Given the description of an element on the screen output the (x, y) to click on. 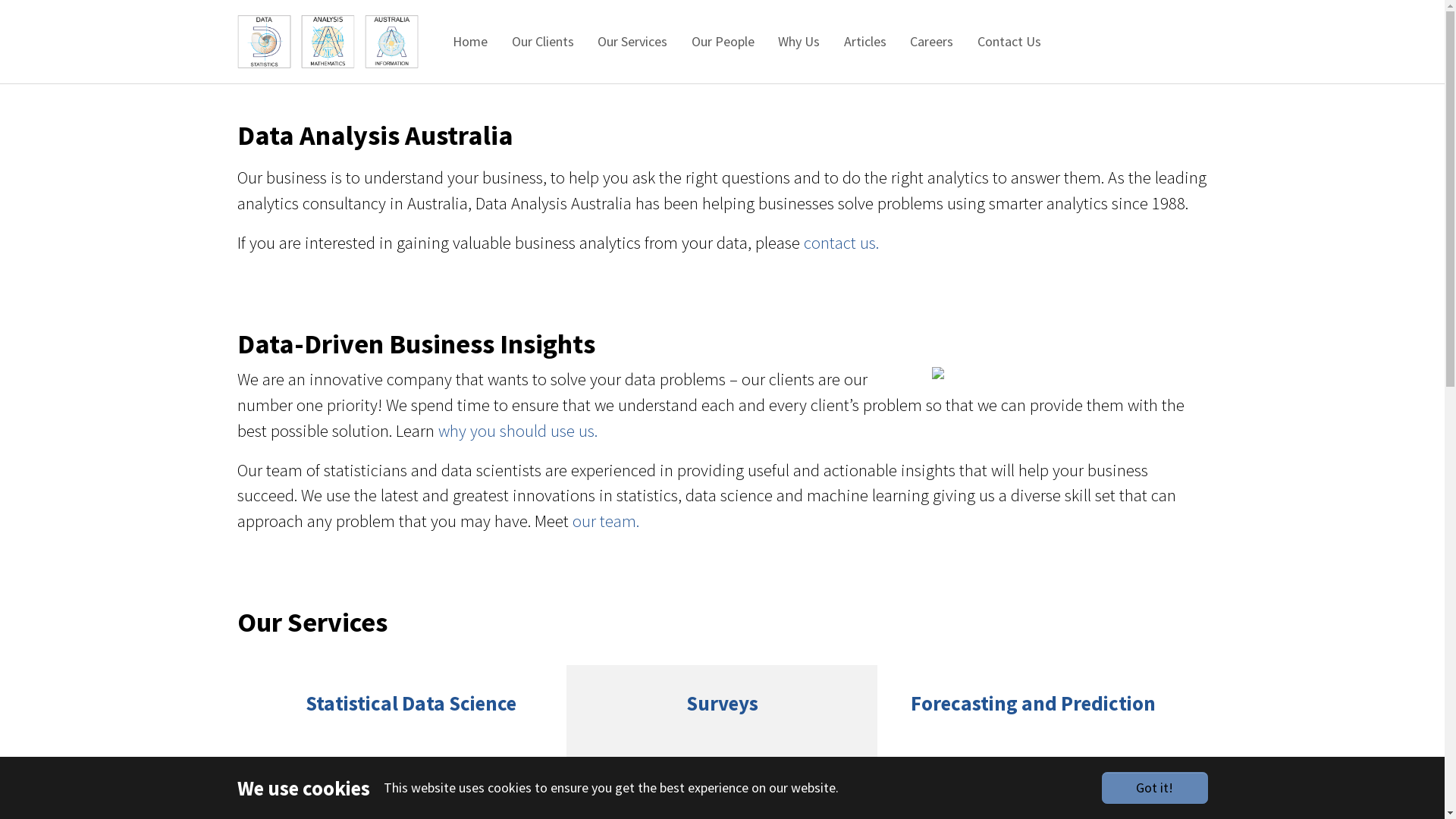
Articles Element type: text (865, 41)
Statistical Data Science Element type: hover (410, 766)
Surveys Element type: hover (721, 766)
Our Services Element type: text (632, 41)
Careers Element type: text (931, 41)
Forecasting and Prediction Element type: text (1032, 741)
why you should use us. Element type: text (517, 430)
Our People Element type: text (722, 41)
Home Element type: text (469, 41)
our team. Element type: text (604, 520)
Contact Us Element type: text (1009, 41)
Statistical Data Science Element type: text (411, 741)
Forecasting and Prediction Element type: hover (1033, 766)
contact us. Element type: text (840, 242)
Got it! Element type: text (1154, 787)
Why Us Element type: text (798, 41)
Surveys Element type: text (721, 741)
Our Clients Element type: text (542, 41)
